Given the description of an element on the screen output the (x, y) to click on. 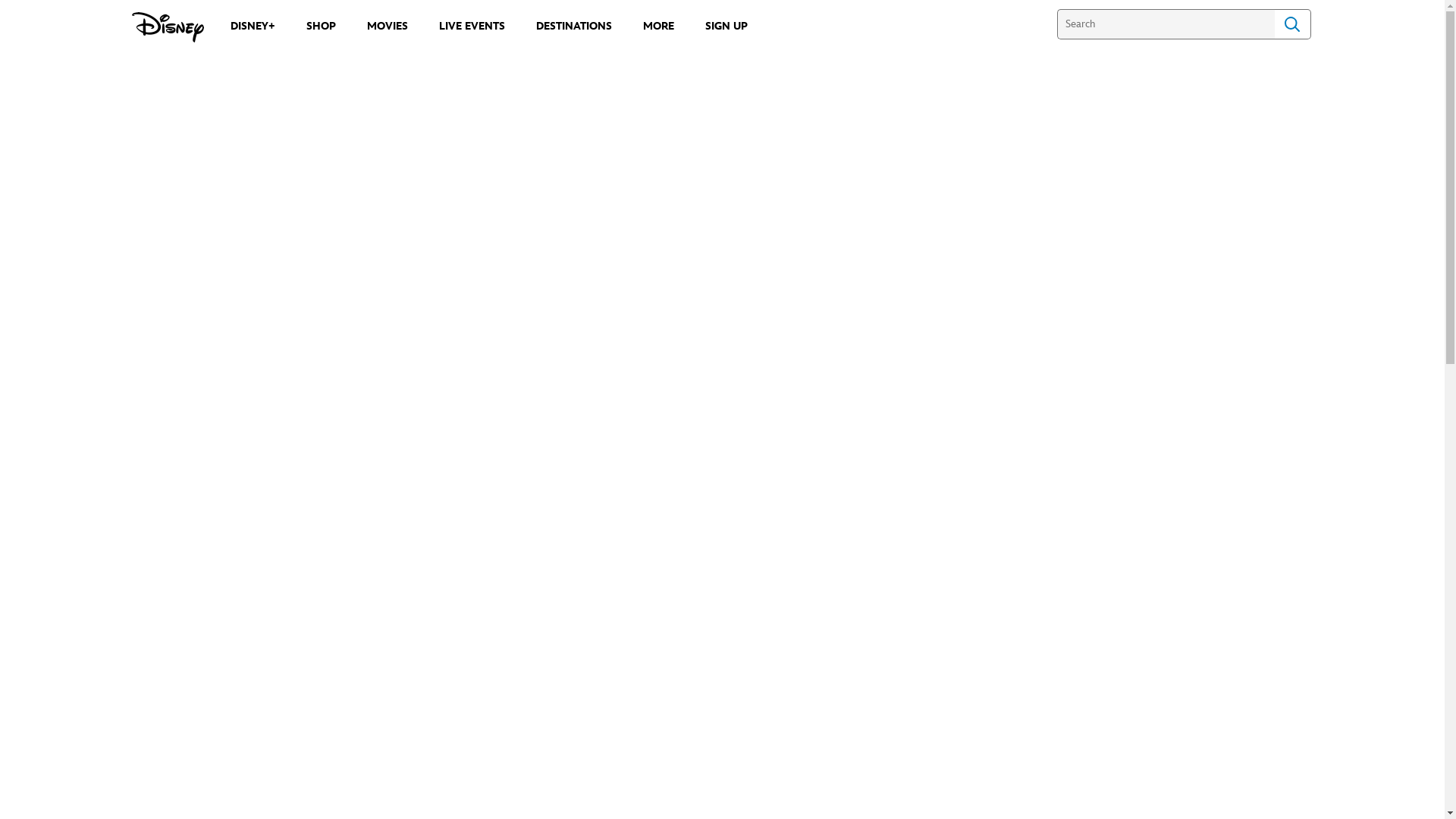
DISNEY+ Element type: text (252, 25)
LIVE EVENTS Element type: text (471, 25)
DESTINATIONS Element type: text (573, 25)
MORE Element type: text (658, 25)
SIGN UP Element type: text (726, 25)
MOVIES Element type: text (387, 25)
SHOP Element type: text (321, 25)
Search Element type: text (1292, 24)
